Given the description of an element on the screen output the (x, y) to click on. 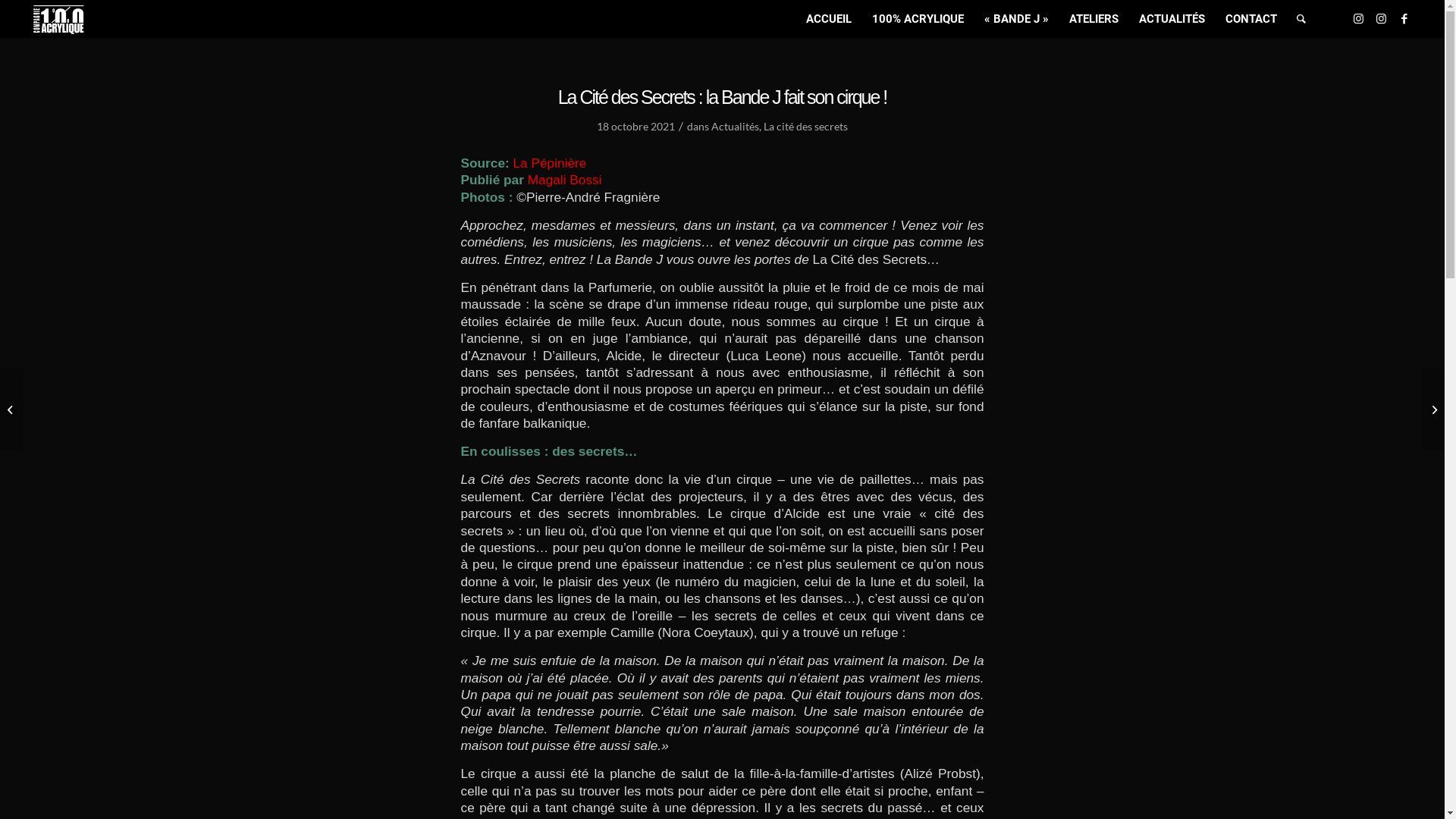
Facebook Element type: hover (1404, 17)
Instagram Element type: hover (1381, 17)
Magali Bossi Element type: text (564, 179)
Instagram Element type: hover (1358, 17)
ATELIERS Element type: text (1093, 18)
CONTACT Element type: text (1250, 18)
ACCUEIL Element type: text (828, 18)
100% ACRYLIQUE Element type: text (917, 18)
